Given the description of an element on the screen output the (x, y) to click on. 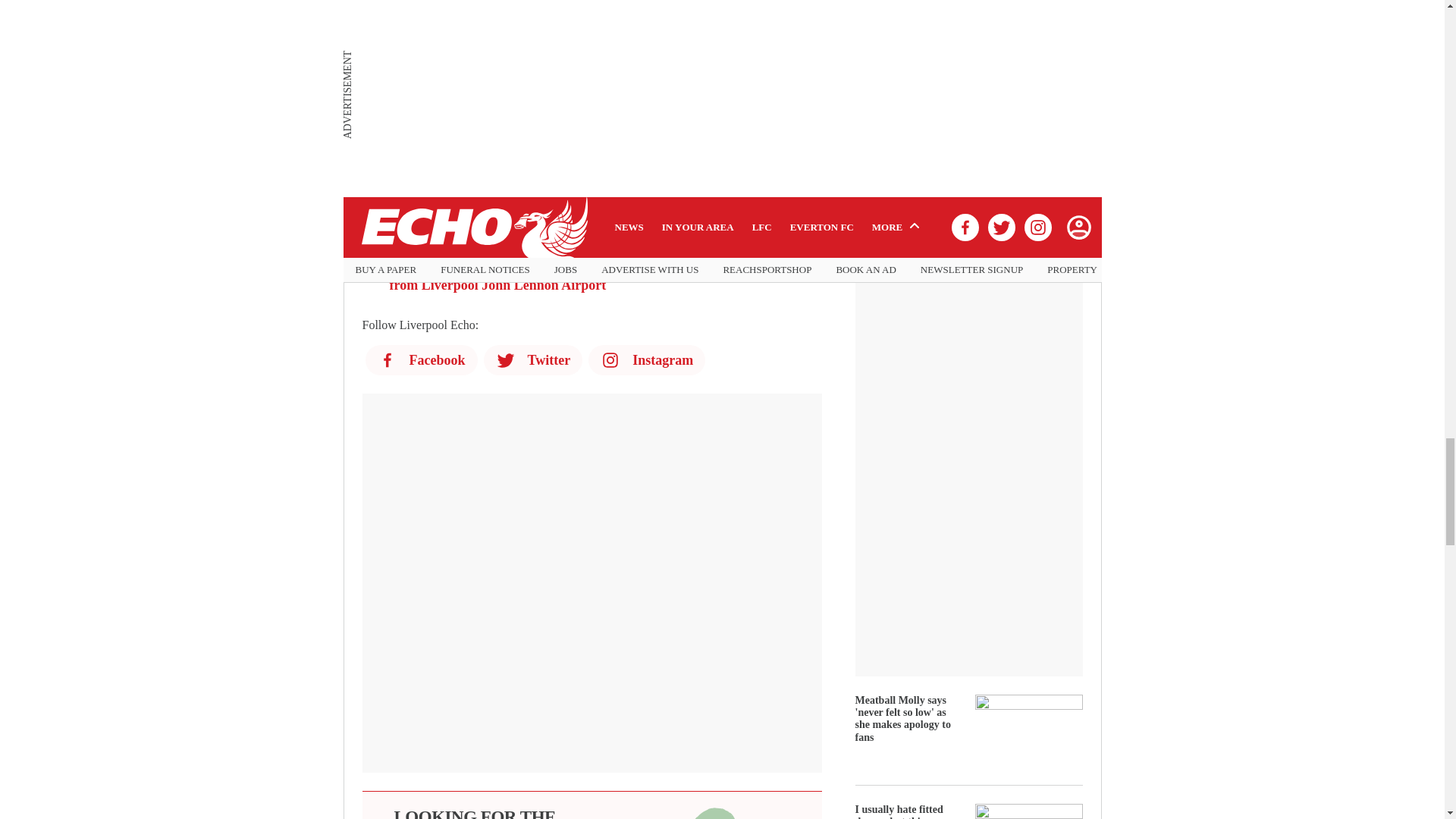
Read Next Article Icon (371, 266)
Read Next Article Icon (371, 130)
Read Next Article Icon (371, 221)
Read Next Article Icon (371, 176)
Read Next Article Icon (371, 85)
